Given the description of an element on the screen output the (x, y) to click on. 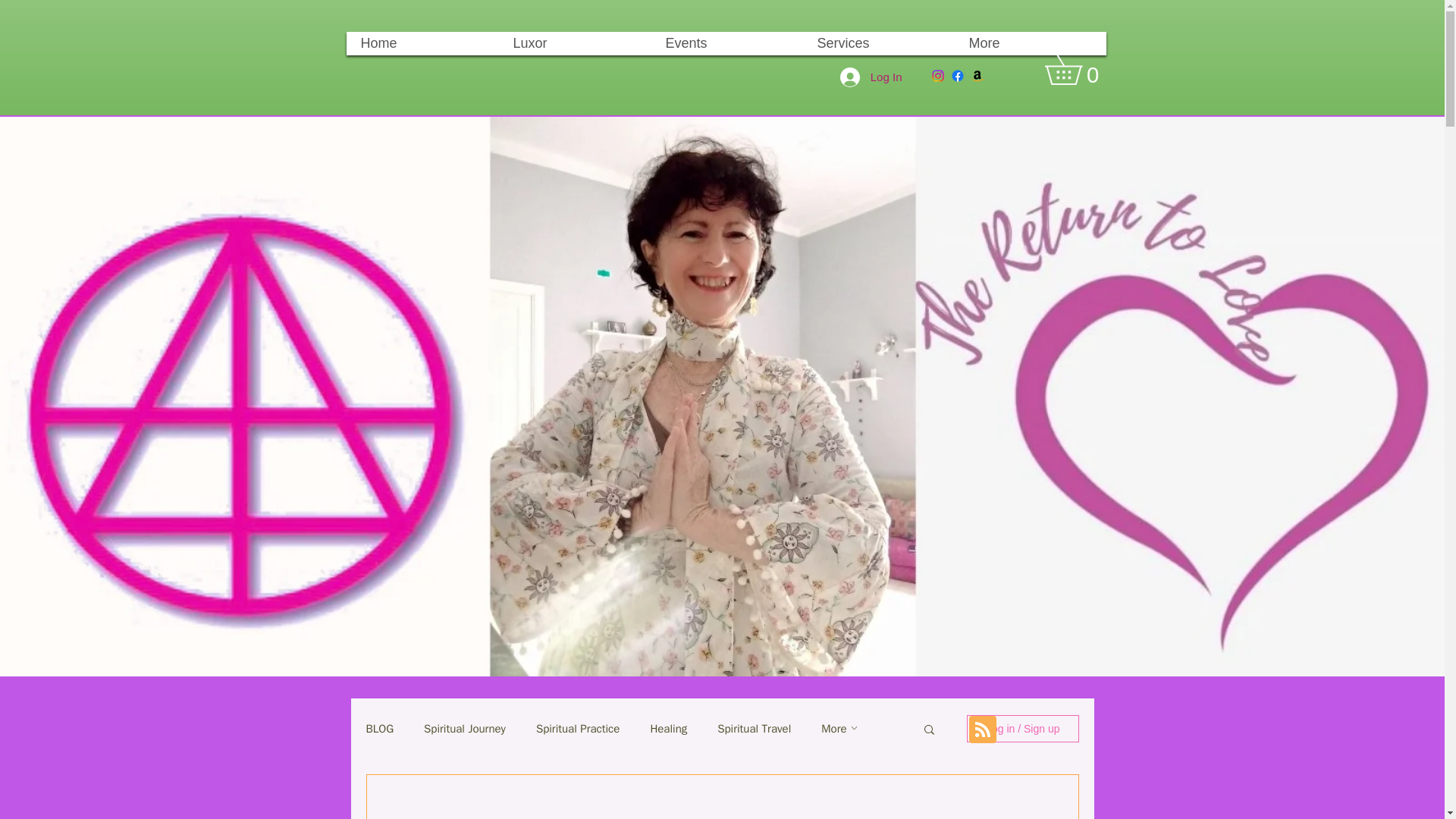
Spiritual Travel (753, 728)
Spiritual Practice (577, 728)
Events (726, 43)
Log In (870, 76)
0 (1077, 69)
0 (1077, 69)
Healing (668, 728)
Home (421, 43)
Luxor (574, 43)
Spiritual Journey (464, 728)
